Given the description of an element on the screen output the (x, y) to click on. 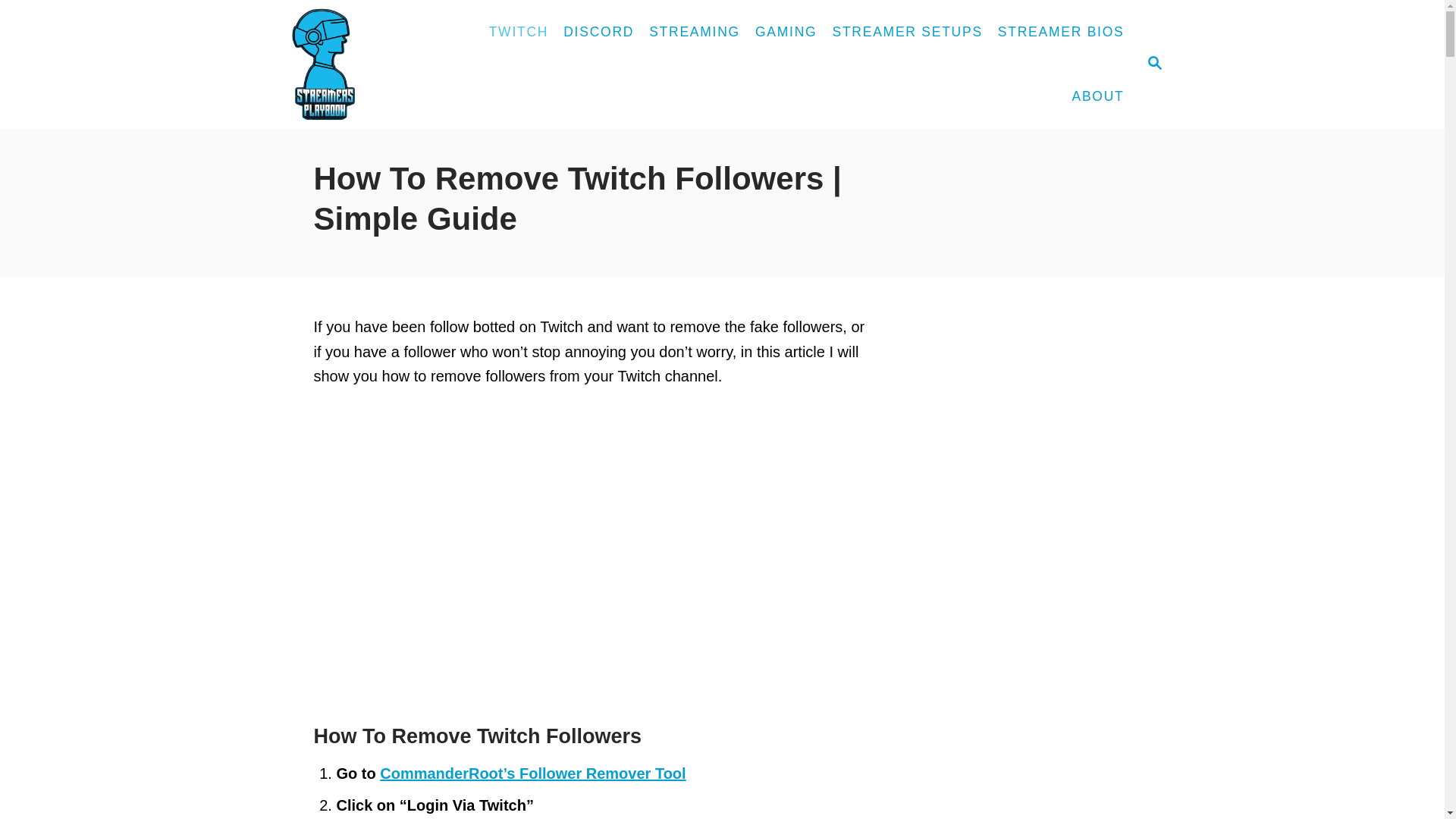
GAMING (1153, 63)
MAGNIFYING GLASS (786, 32)
DISCORD (1153, 62)
ABOUT (599, 32)
STREAMER SETUPS (1097, 97)
STREAMING (907, 32)
STREAMER BIOS (695, 32)
Streamers Playbook (1061, 32)
TWITCH (371, 64)
